Given the description of an element on the screen output the (x, y) to click on. 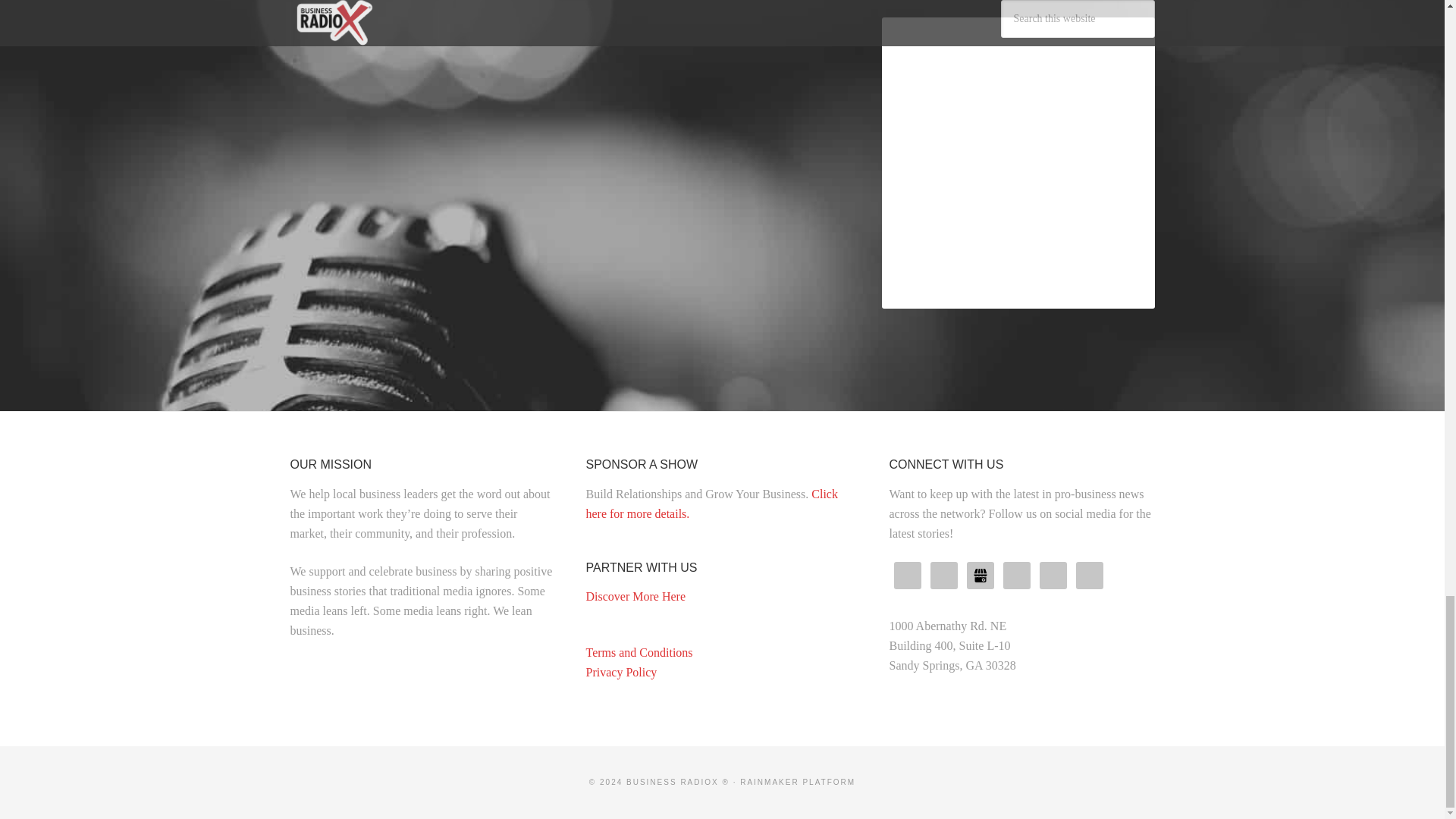
Google my business (979, 574)
